Given the description of an element on the screen output the (x, y) to click on. 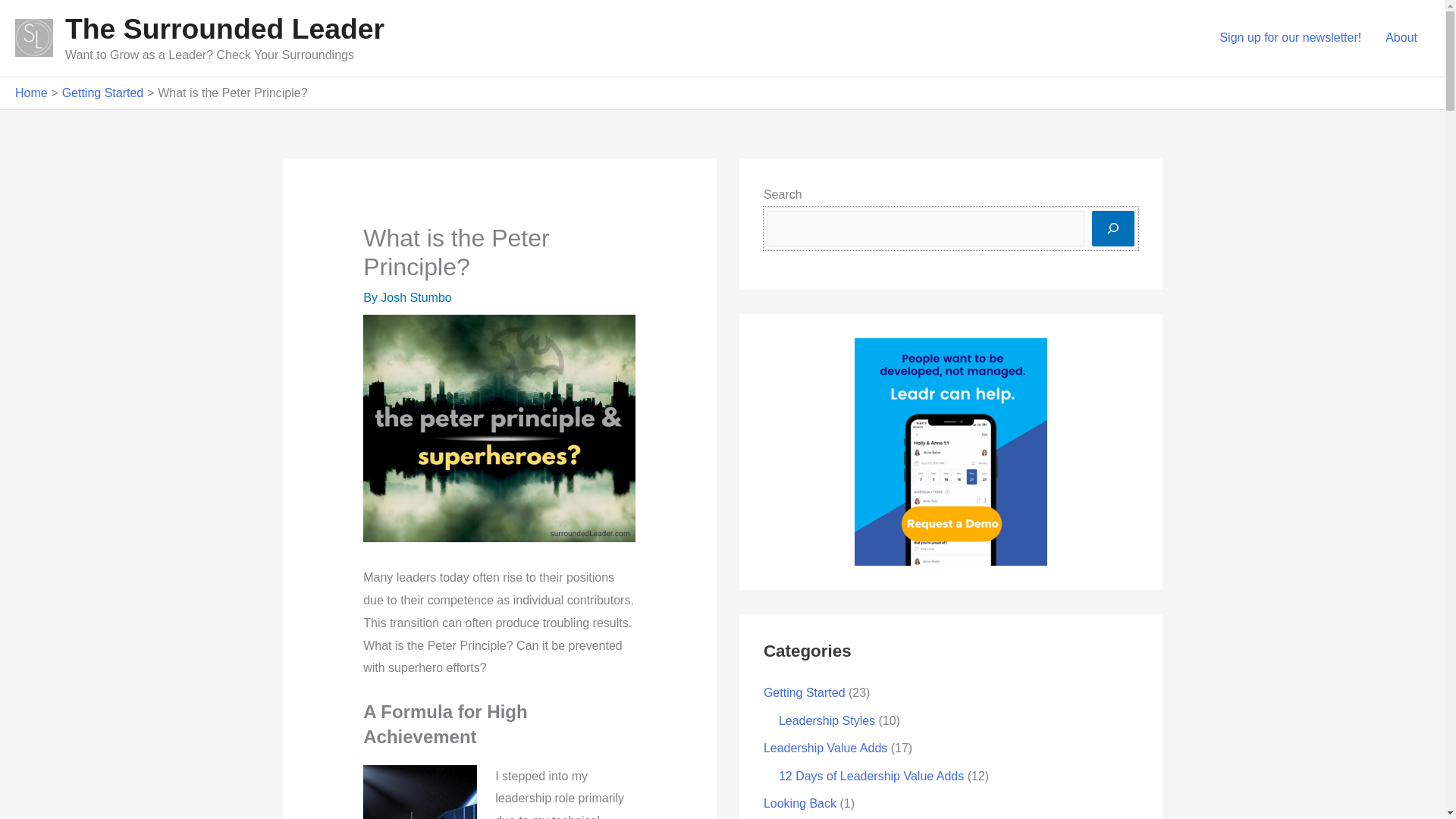
Leadership Styles (826, 720)
Sign up for our newsletter! (1290, 37)
Getting Started (103, 92)
Home (31, 92)
The Surrounded Leader (224, 29)
About (1401, 37)
Josh Stumbo (415, 297)
View all posts by Josh Stumbo (415, 297)
Getting Started (803, 692)
